Given the description of an element on the screen output the (x, y) to click on. 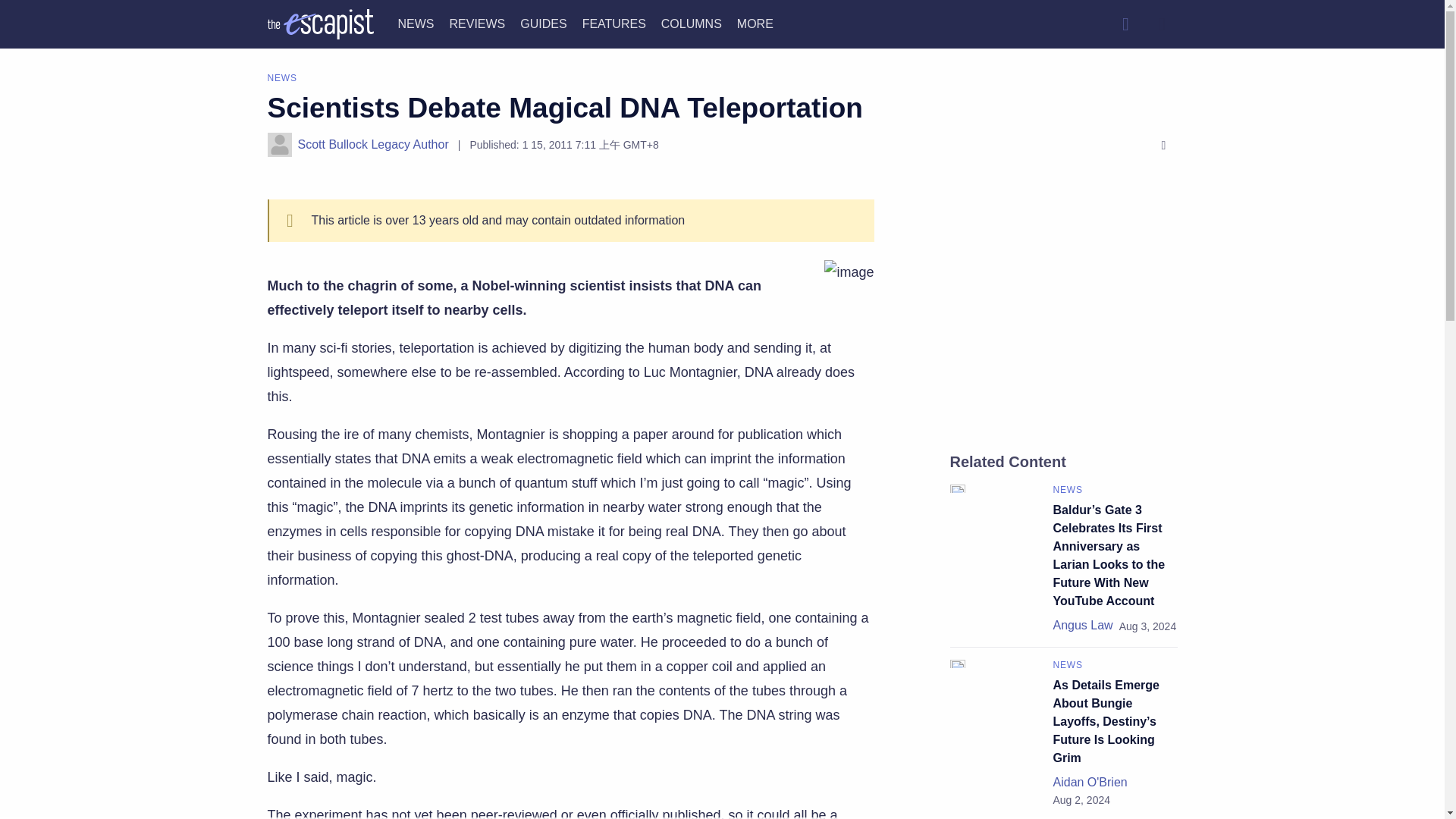
Dark Mode (1161, 24)
Search (1124, 24)
COLUMNS (691, 23)
REVIEWS (476, 23)
GUIDES (542, 23)
FEATURES (614, 23)
NEWS (415, 23)
